Given the description of an element on the screen output the (x, y) to click on. 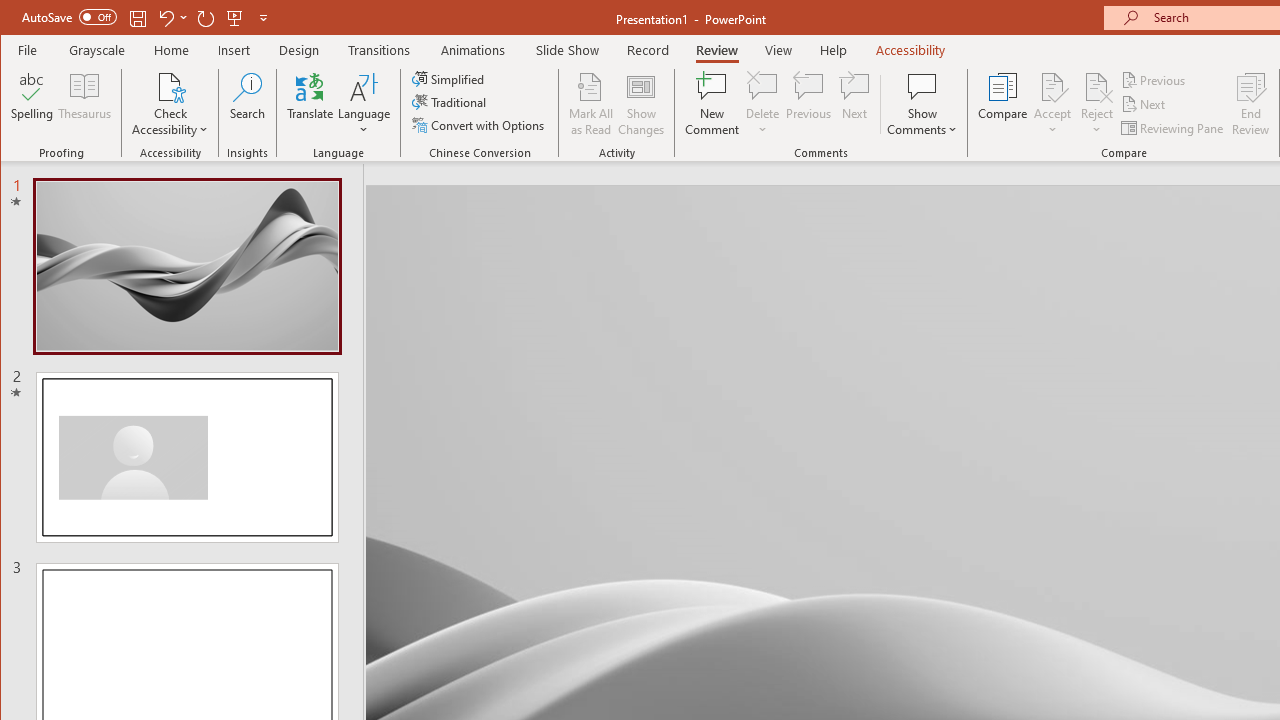
Show Changes (640, 104)
Accept Change (1052, 86)
Reviewing Pane (1173, 127)
Accept (1052, 104)
